Given the description of an element on the screen output the (x, y) to click on. 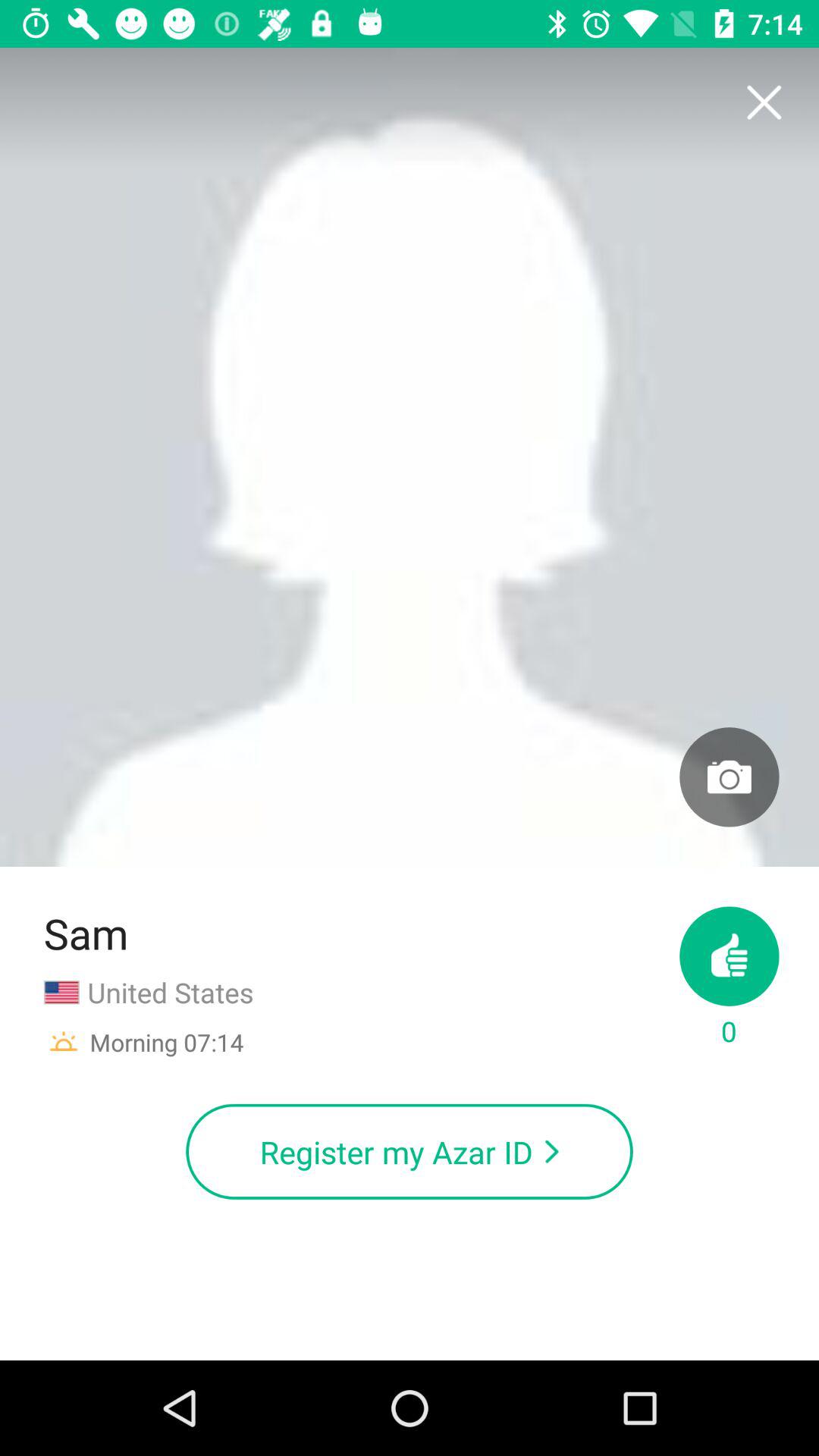
press 0 at the bottom right corner (729, 977)
